Given the description of an element on the screen output the (x, y) to click on. 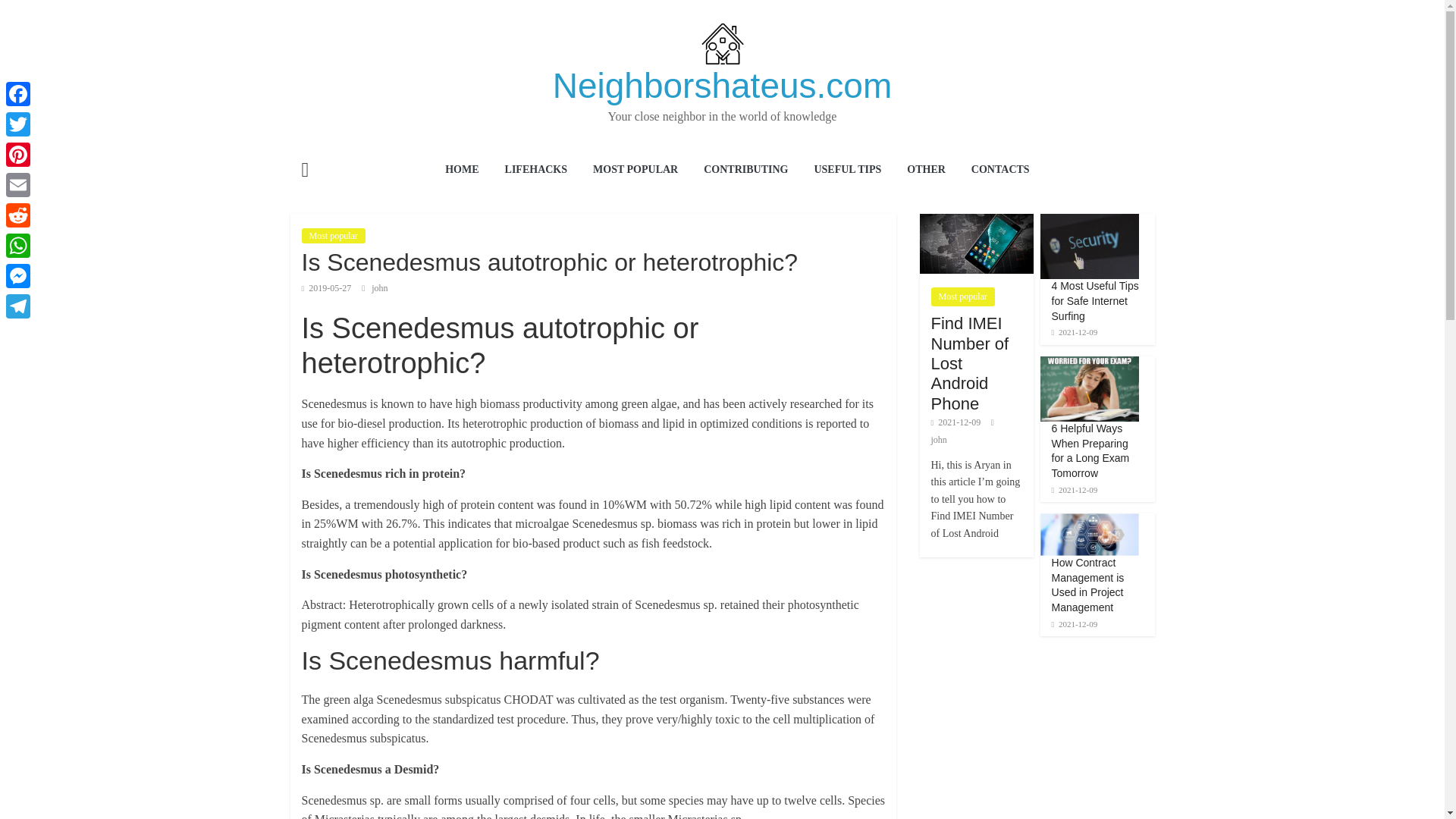
2021-12-09 (1074, 489)
CONTACTS (1000, 170)
HOME (461, 170)
11:44 am (956, 421)
2019-05-27 (326, 287)
LIFEHACKS (535, 170)
Most popular (333, 235)
12:00 am (326, 287)
Find IMEI Number of Lost Android Phone (975, 221)
USEFUL TIPS (847, 170)
